Given the description of an element on the screen output the (x, y) to click on. 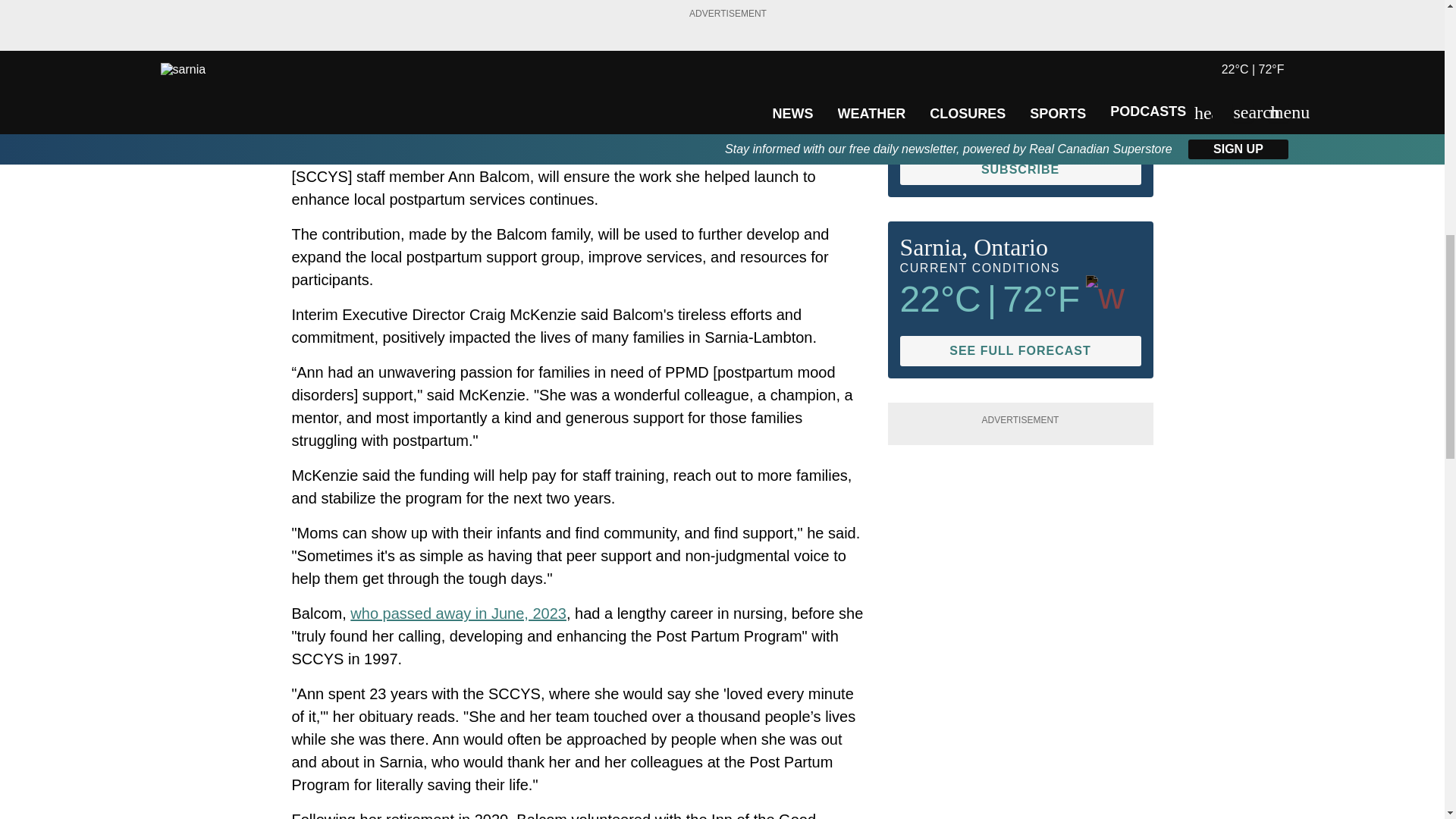
who passed away in June, 2023 (458, 613)
SUBSCRIBE (1019, 169)
SEE FULL FORECAST (1019, 350)
